Given the description of an element on the screen output the (x, y) to click on. 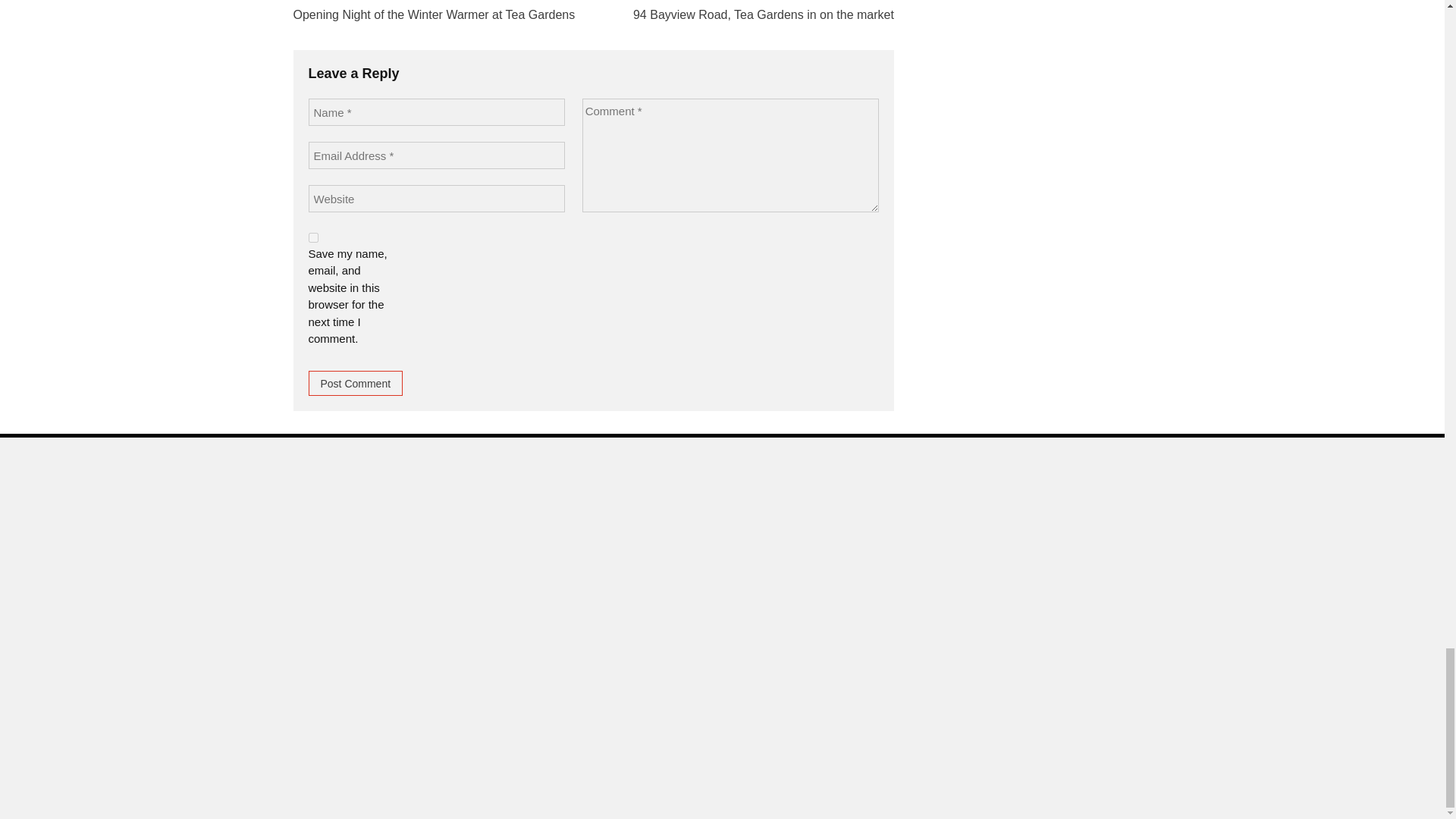
Post Comment (355, 383)
yes (312, 237)
